Given the description of an element on the screen output the (x, y) to click on. 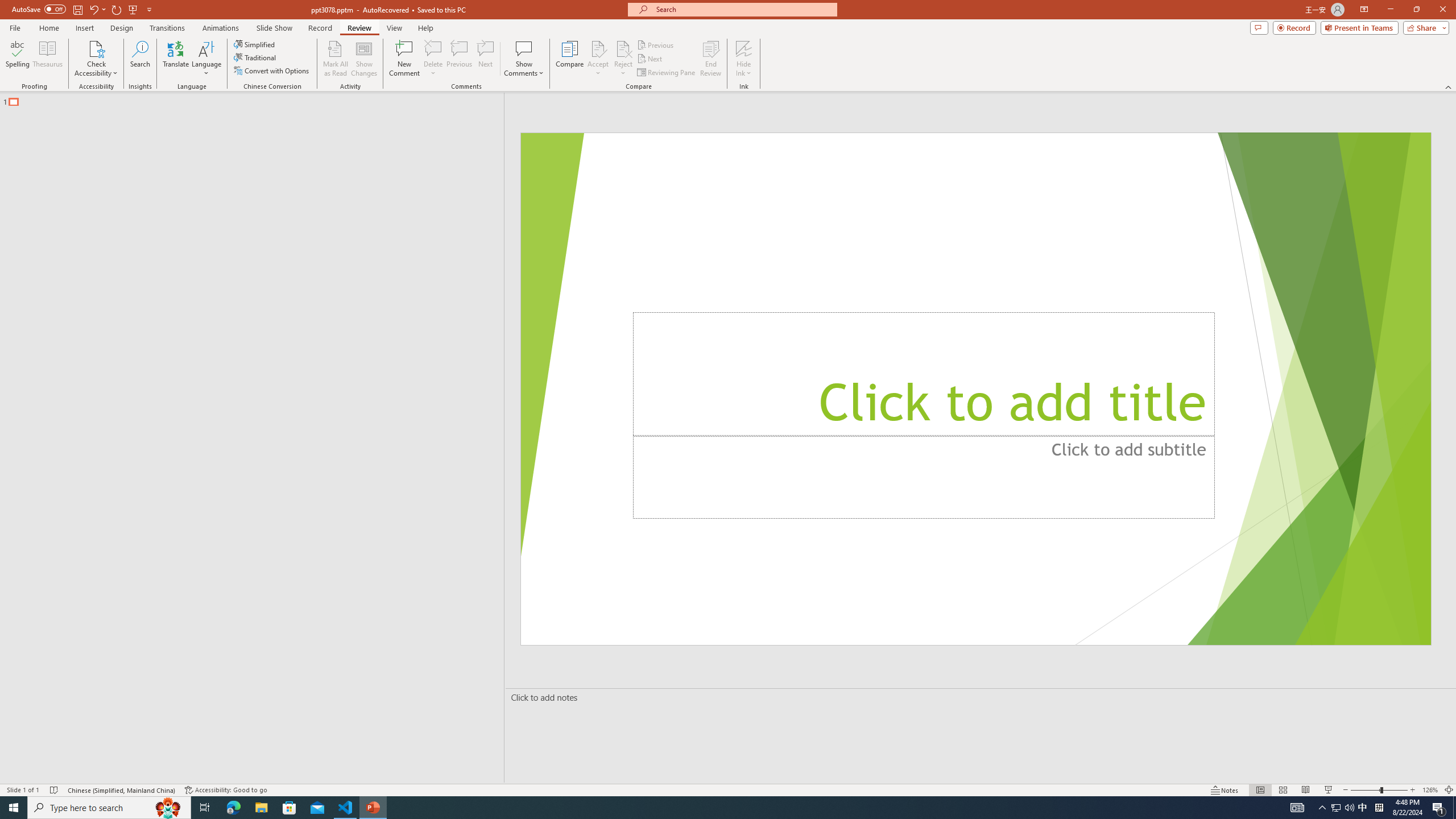
Show Comments (524, 58)
Mark All as Read (335, 58)
Language (206, 58)
Compare (569, 58)
End Review (710, 58)
